Given the description of an element on the screen output the (x, y) to click on. 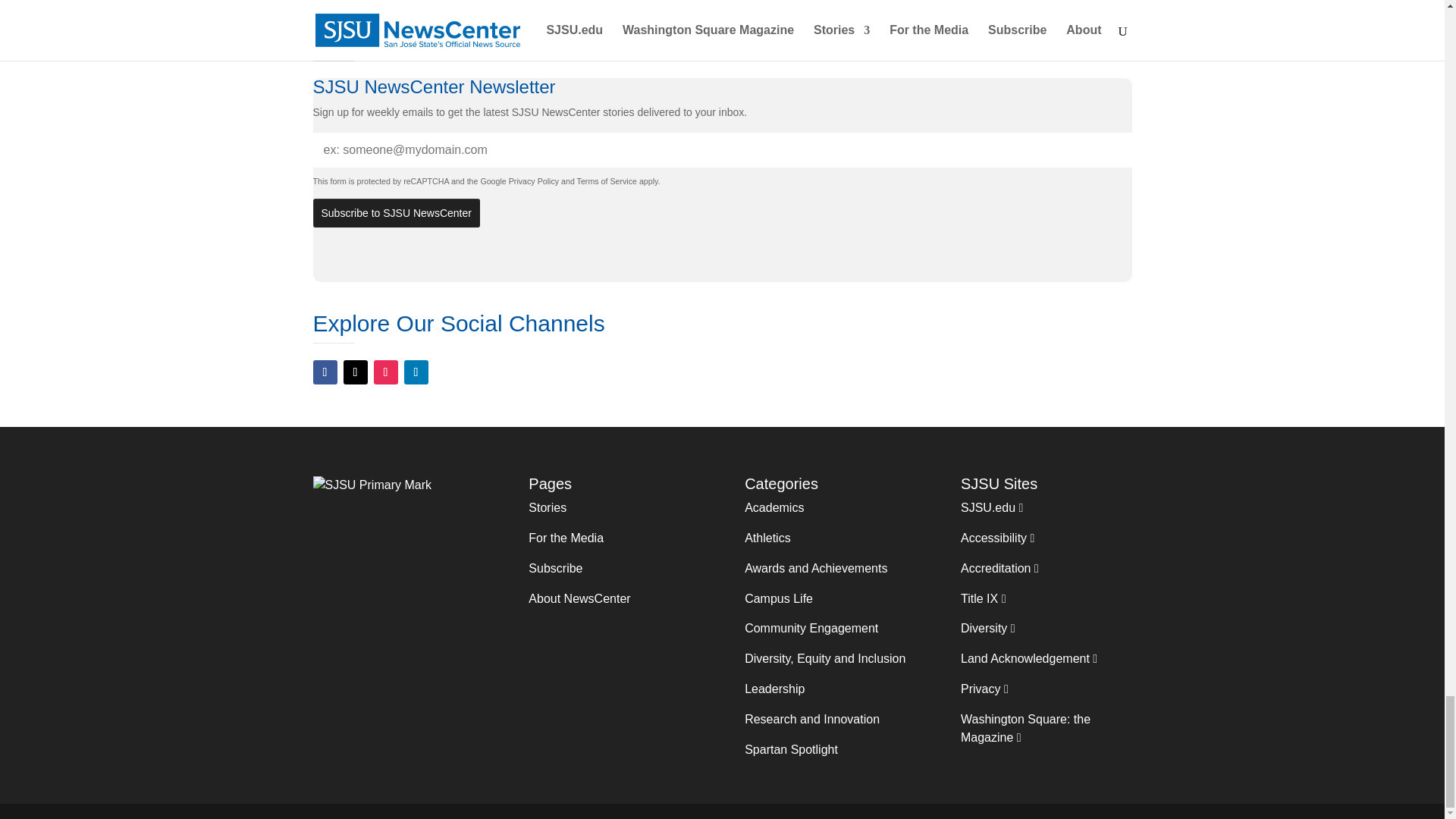
Follow on LinkedIn (415, 372)
Follow on X (354, 372)
Follow on Facebook (324, 372)
Subscribe to SJSU NewsCenter (396, 213)
Follow on Instagram (384, 372)
